Given the description of an element on the screen output the (x, y) to click on. 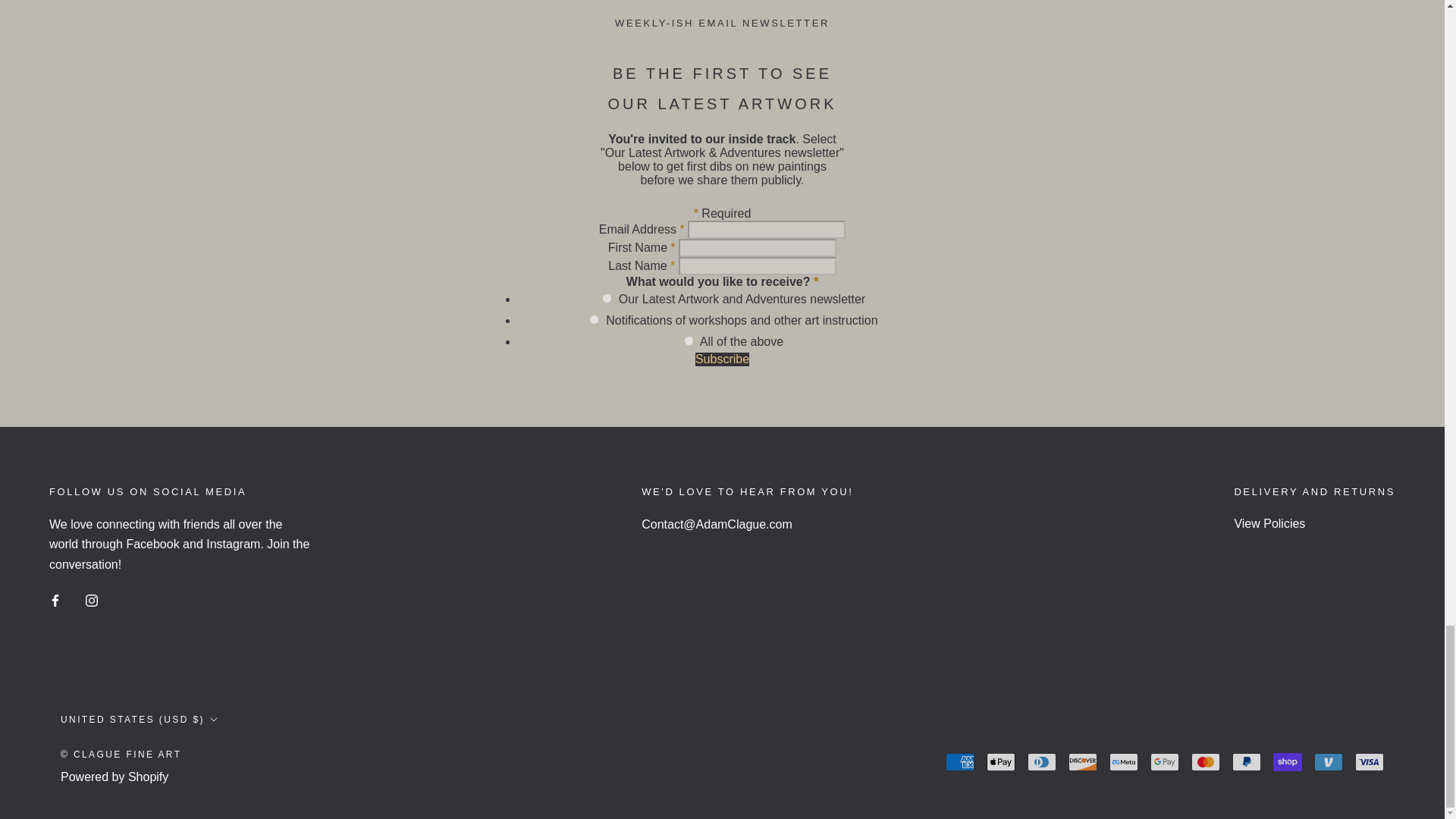
American Express (959, 761)
Mastercard (1205, 761)
Diners Club (1042, 761)
Google Pay (1164, 761)
Our Latest Artwork and Adventures newsletter (606, 297)
Notifications of workshops and other art instruction (593, 318)
Subscribe (722, 358)
Shop Pay (1286, 761)
Apple Pay (1000, 761)
PayPal (1245, 761)
All of the above (689, 339)
Discover (1082, 761)
Meta Pay (1123, 761)
